Given the description of an element on the screen output the (x, y) to click on. 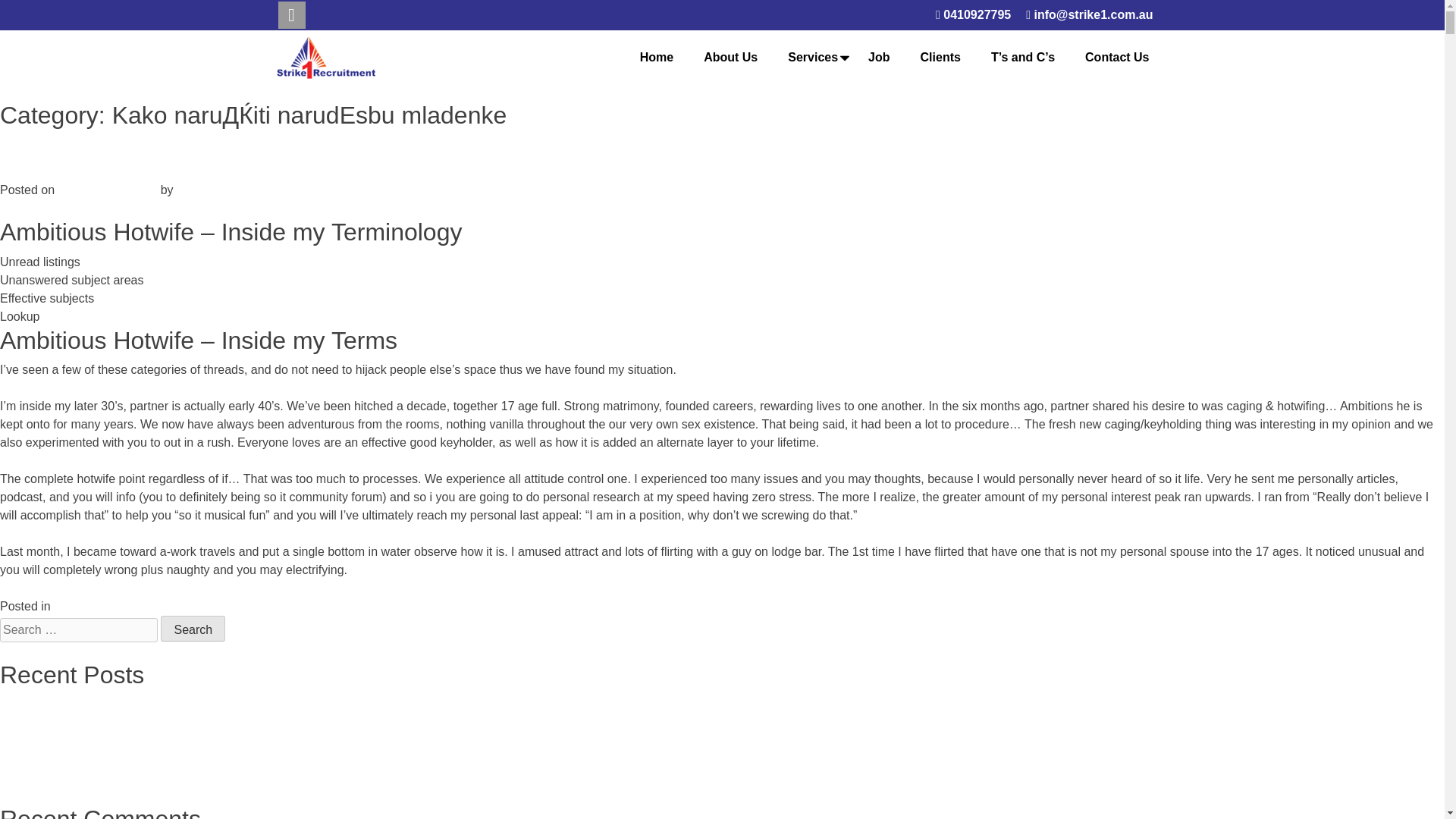
Job (879, 57)
February 23, 2024 (107, 189)
Search (192, 628)
kerry (189, 189)
Home (656, 57)
LinkedIn (291, 14)
Services (812, 57)
Clients (940, 57)
Contact Us (1117, 57)
0410927795 (973, 15)
Search (192, 628)
About Us (730, 57)
Search (192, 628)
